Given the description of an element on the screen output the (x, y) to click on. 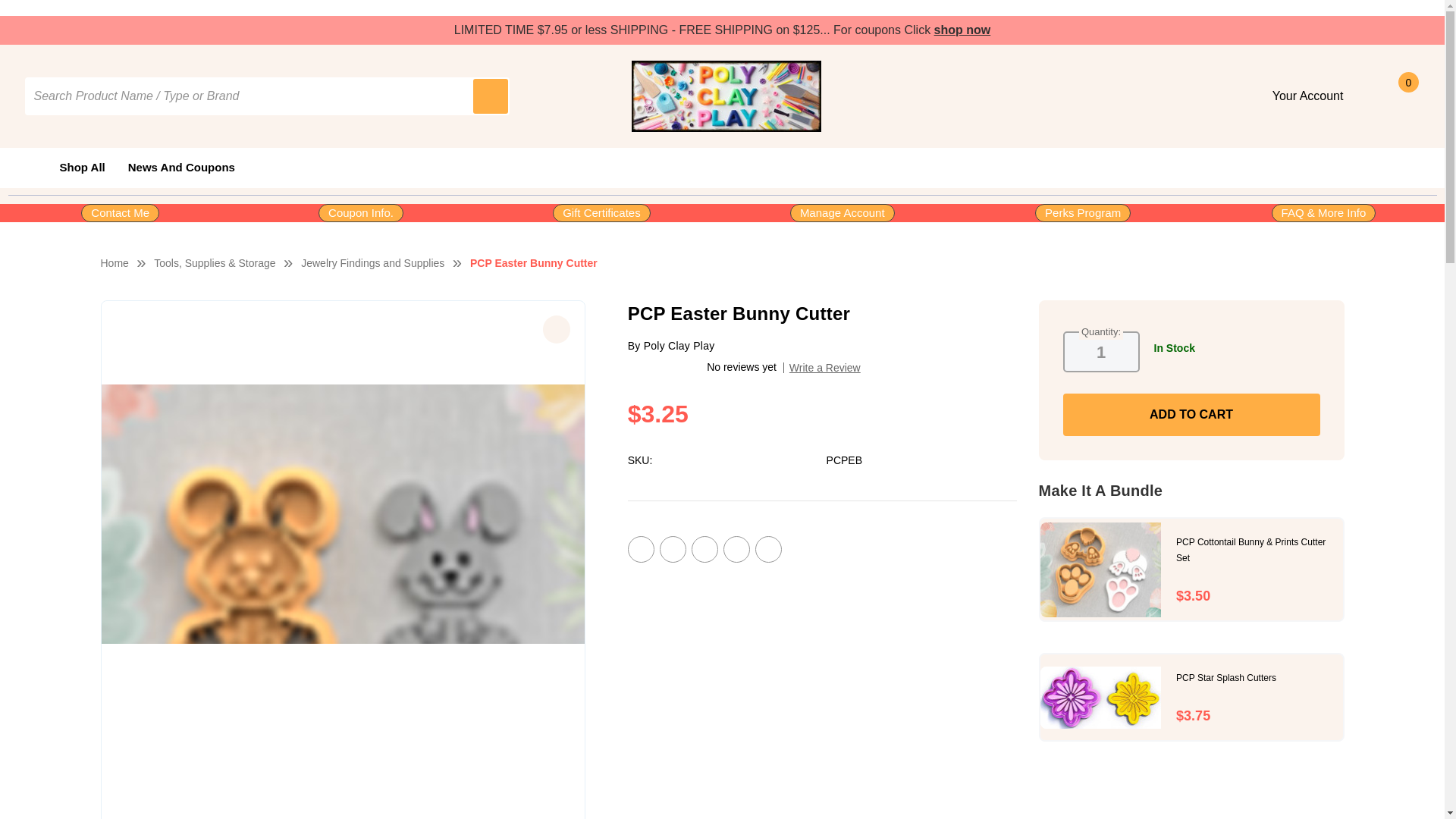
News And Coupons (181, 168)
Add to Cart (1191, 414)
1 (1101, 352)
0 (1402, 95)
Shop All (70, 168)
shop now (962, 29)
Your Account (1313, 95)
Poly Clay Play (726, 95)
